Given the description of an element on the screen output the (x, y) to click on. 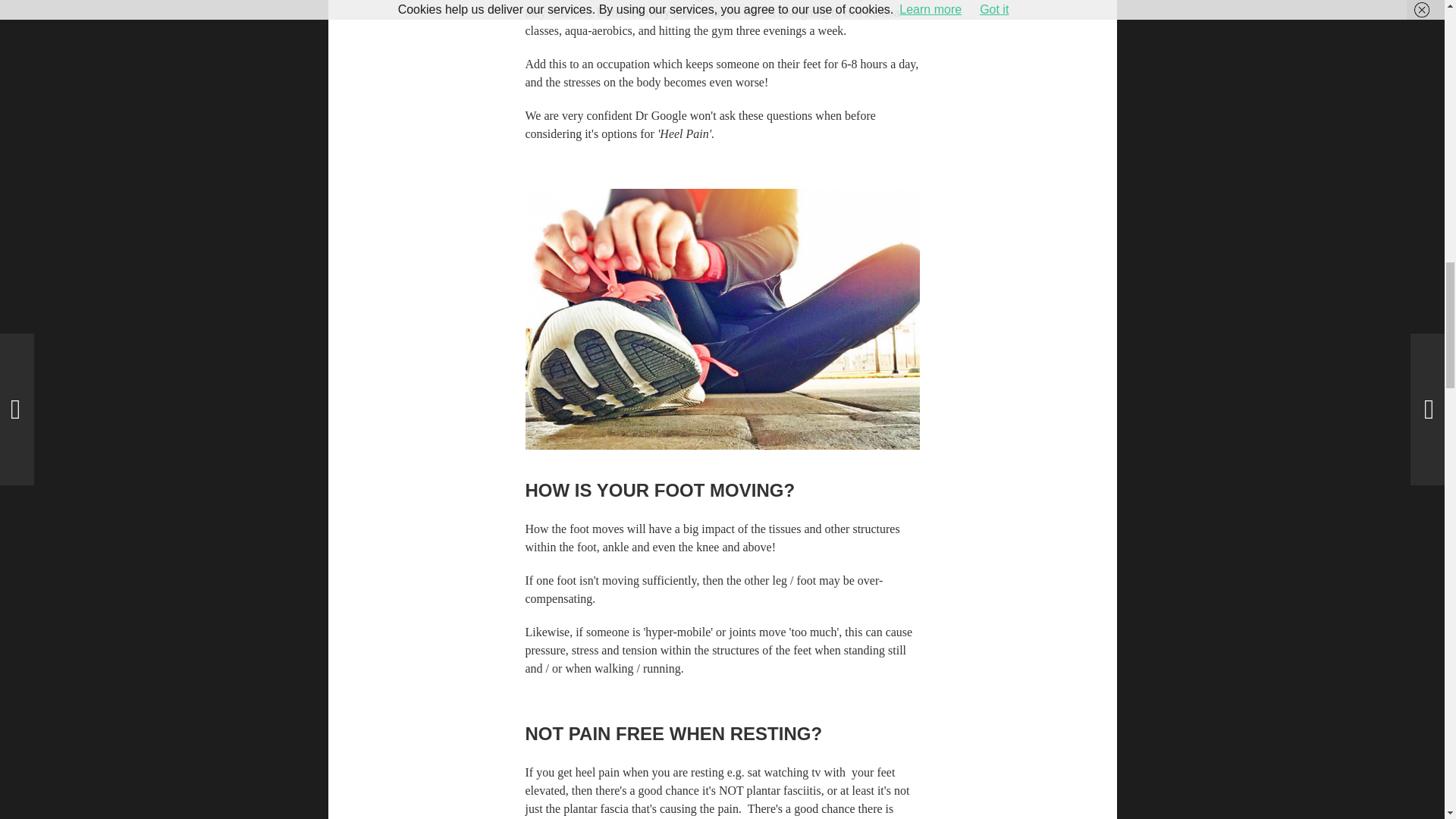
Is your footwear up to the job? (721, 319)
